Given the description of an element on the screen output the (x, y) to click on. 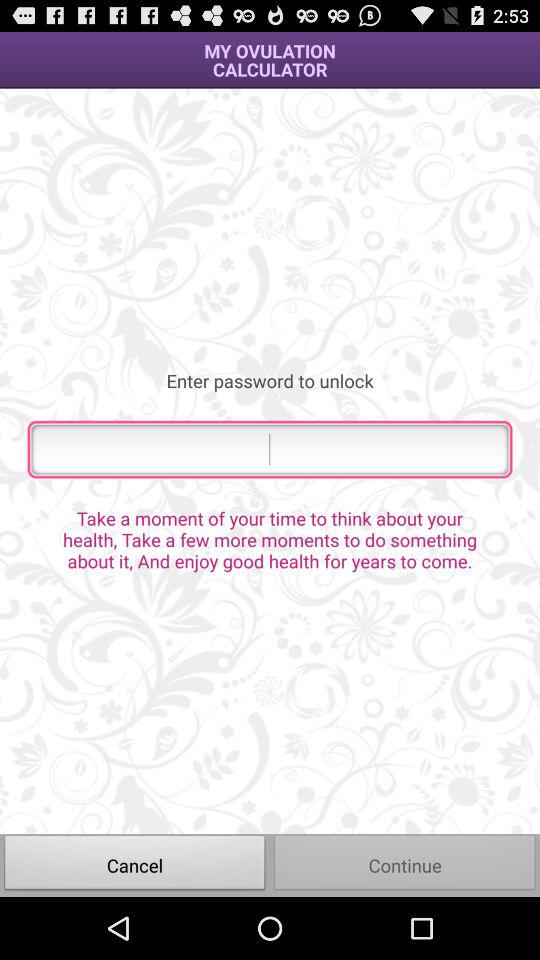
click the continue (405, 864)
